Given the description of an element on the screen output the (x, y) to click on. 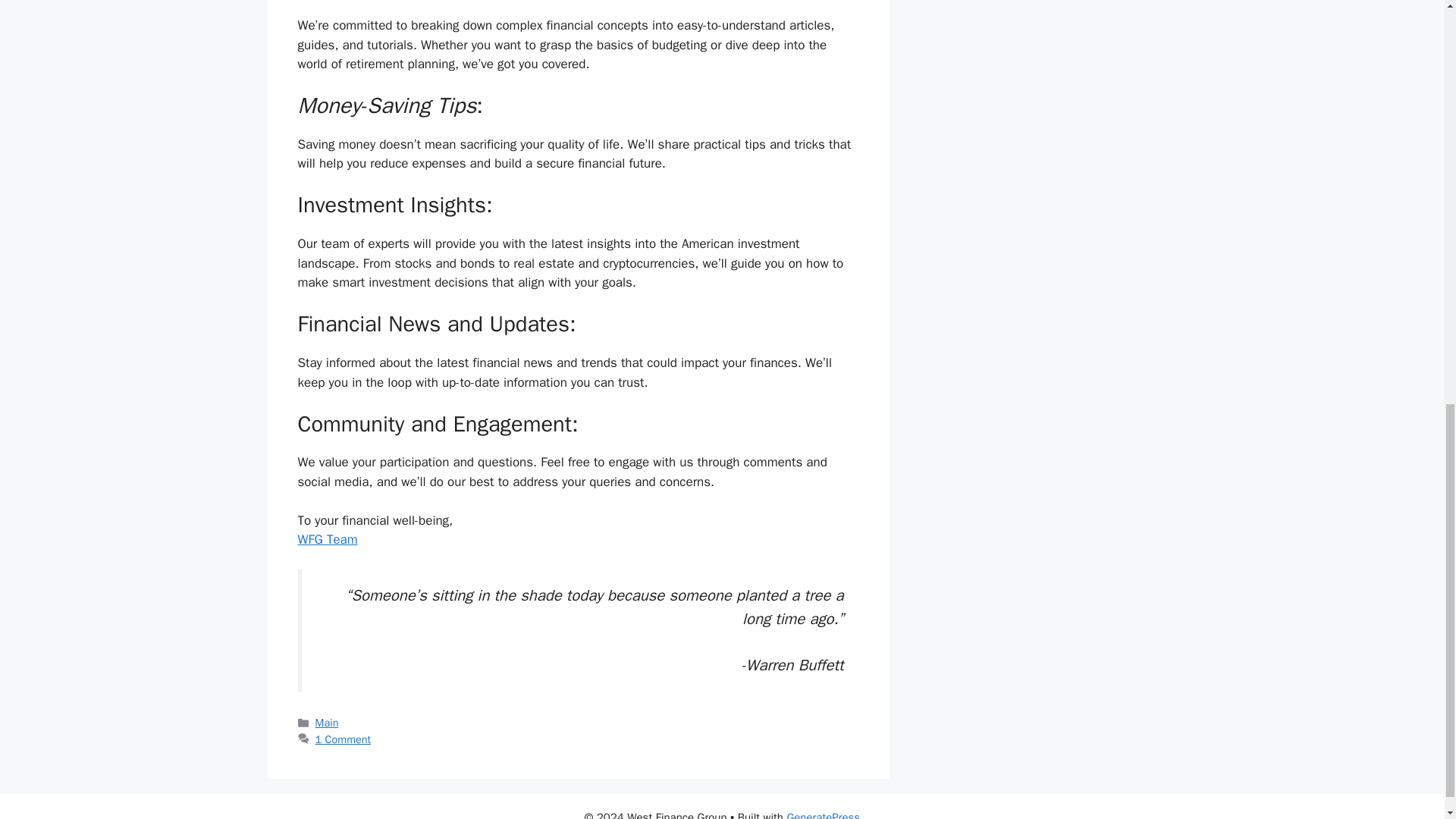
WFG Team (326, 539)
GeneratePress (823, 814)
Main (327, 722)
1 Comment (343, 739)
Scroll back to top (1406, 720)
